Given the description of an element on the screen output the (x, y) to click on. 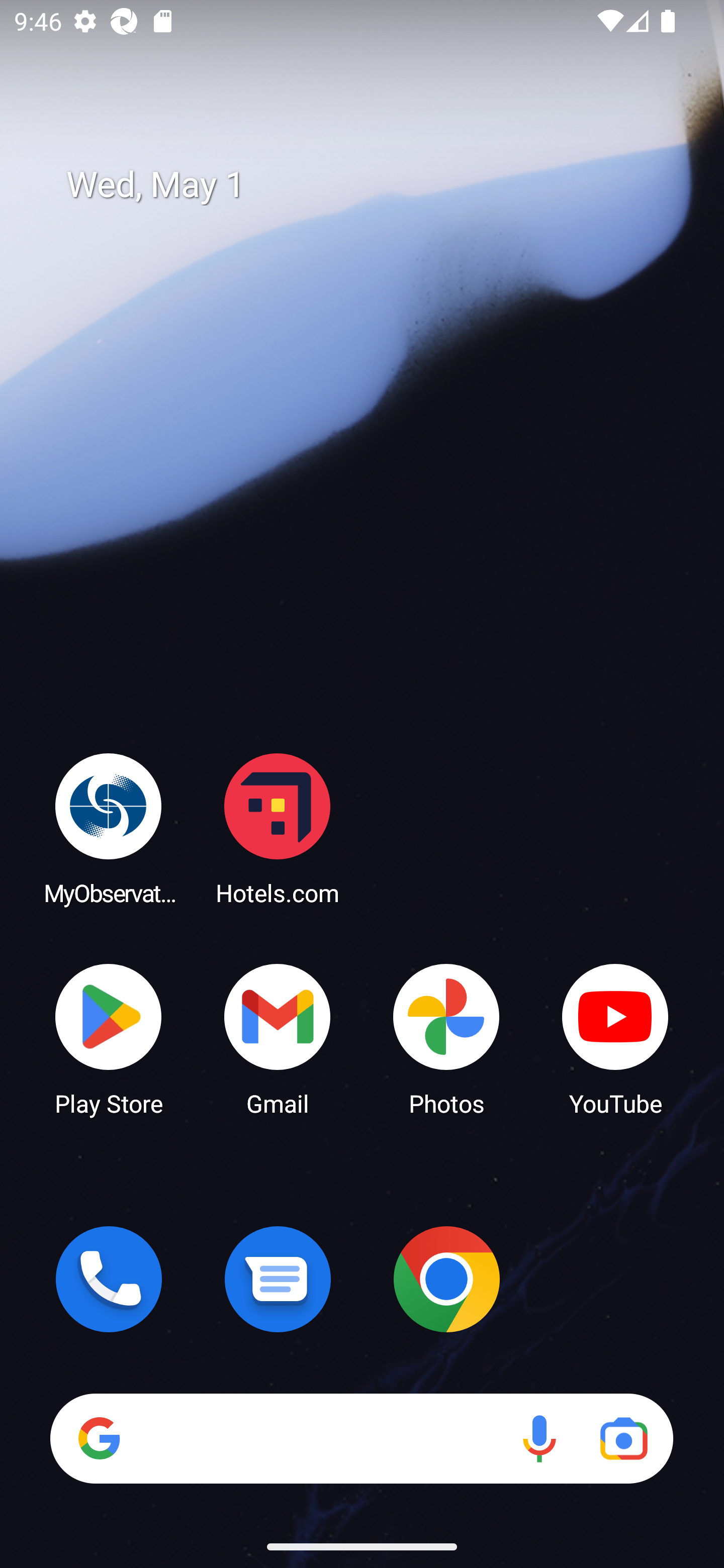
Wed, May 1 (375, 184)
MyObservatory (108, 828)
Hotels.com (277, 828)
Play Store (108, 1038)
Gmail (277, 1038)
Photos (445, 1038)
YouTube (615, 1038)
Phone (108, 1279)
Messages (277, 1279)
Chrome (446, 1279)
Search Voice search Google Lens (361, 1438)
Voice search (539, 1438)
Google Lens (623, 1438)
